Given the description of an element on the screen output the (x, y) to click on. 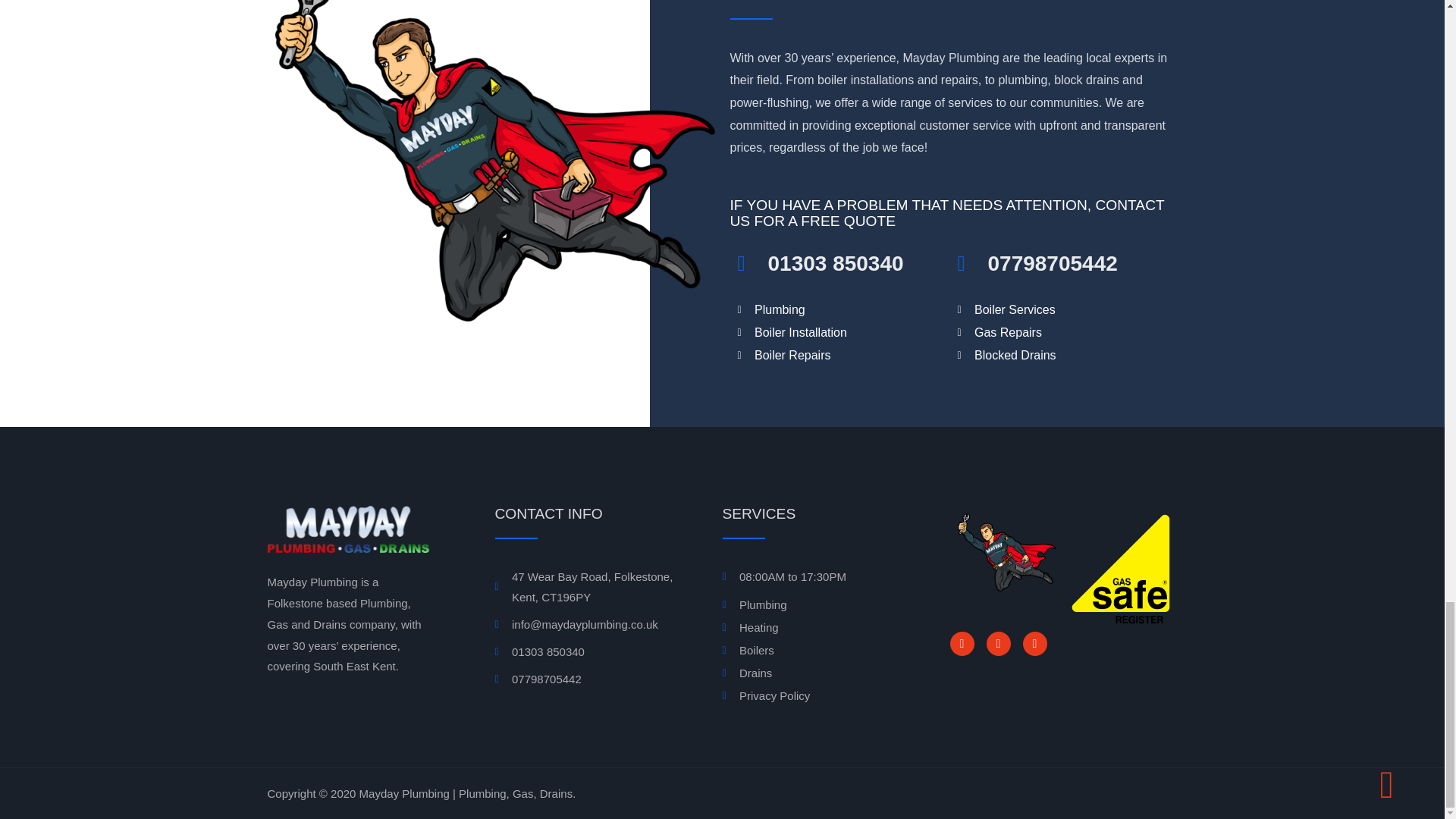
01303 850340 (590, 651)
Plumbing (811, 604)
Boilers (811, 649)
Heating (811, 627)
Drains (811, 672)
07798705442 (590, 679)
Privacy Policy (811, 695)
